Given the description of an element on the screen output the (x, y) to click on. 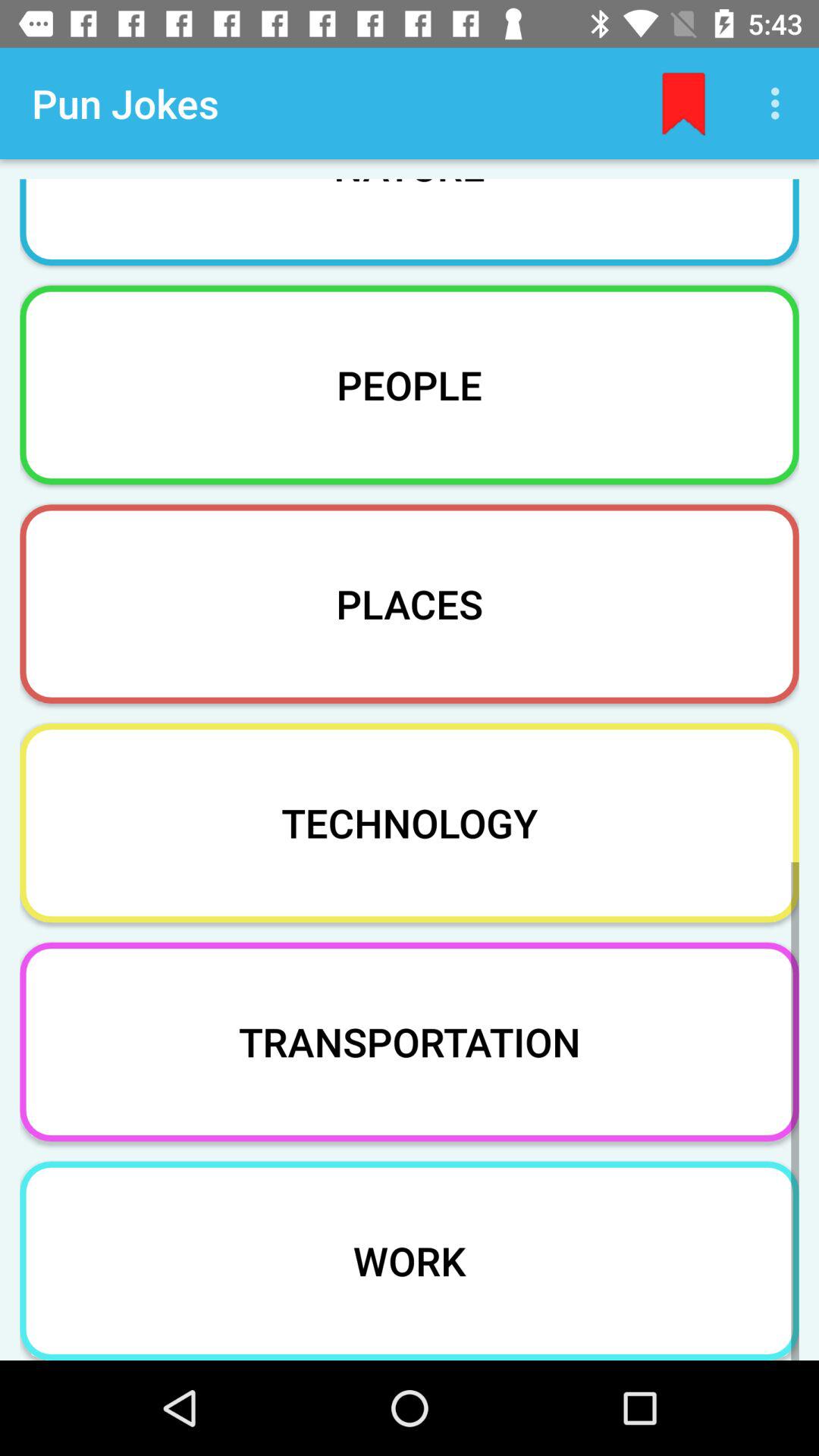
turn on icon above technology (409, 603)
